Given the description of an element on the screen output the (x, y) to click on. 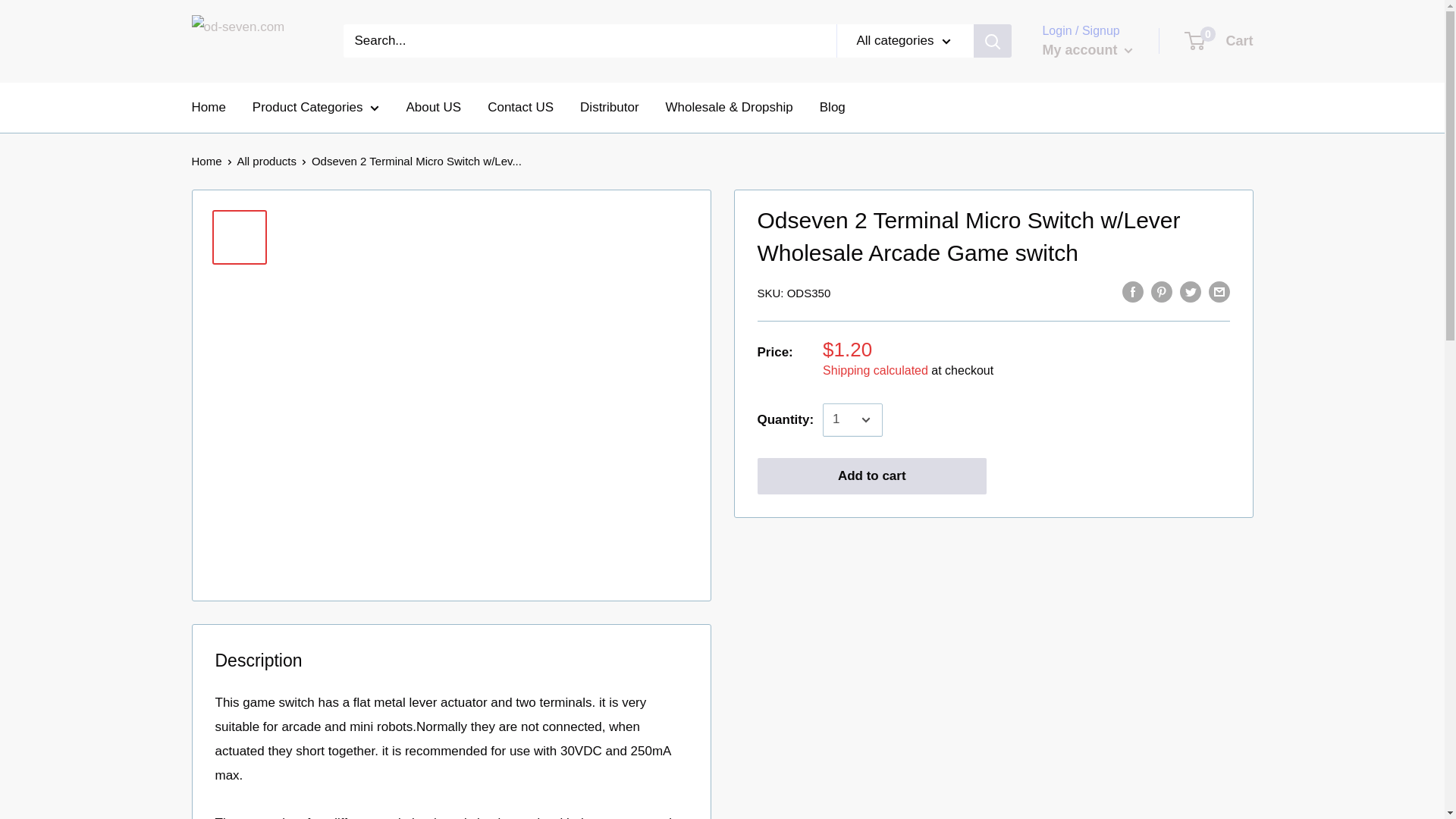
My account (1219, 41)
